Given the description of an element on the screen output the (x, y) to click on. 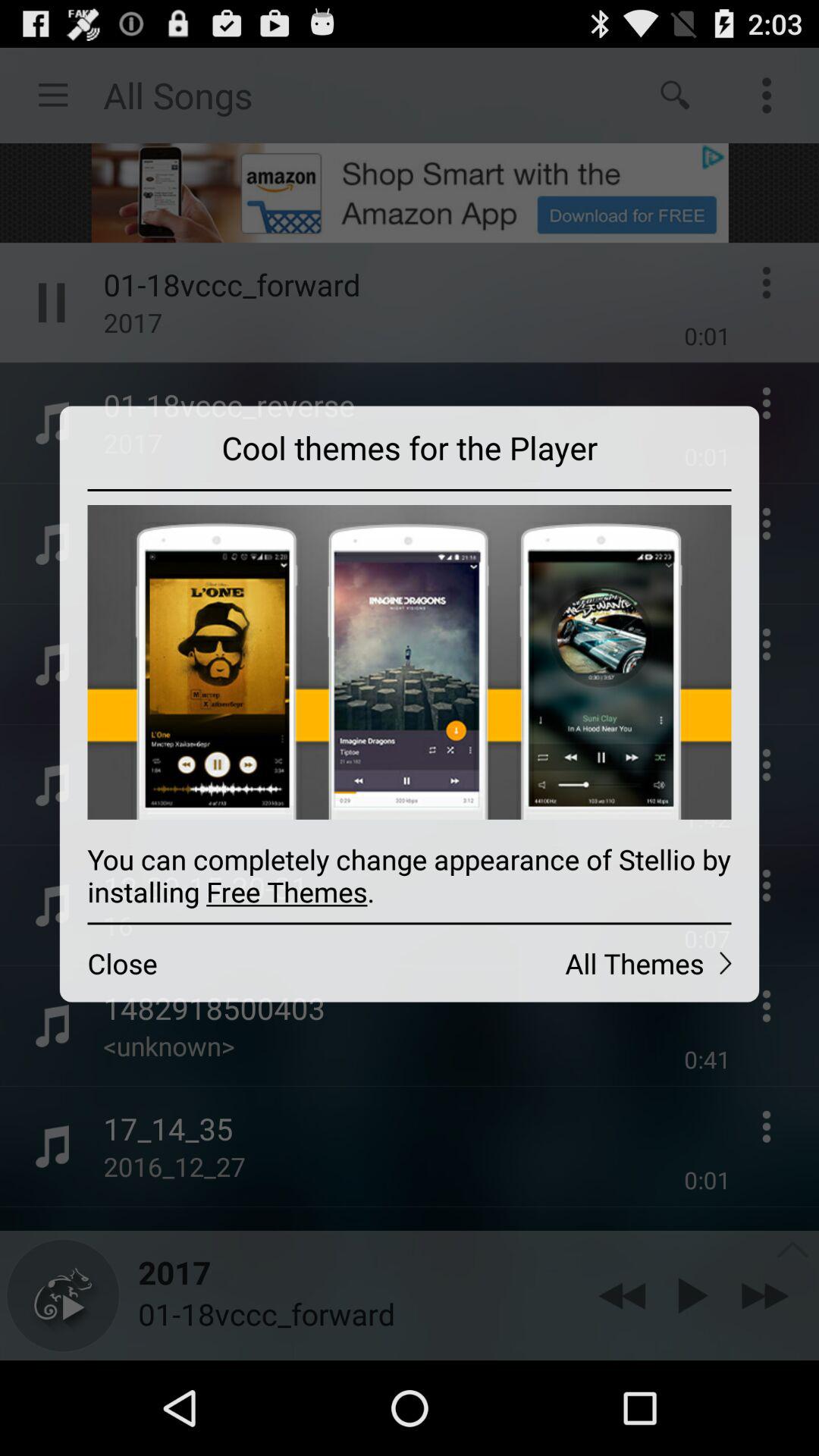
choose the icon next to close icon (584, 963)
